Given the description of an element on the screen output the (x, y) to click on. 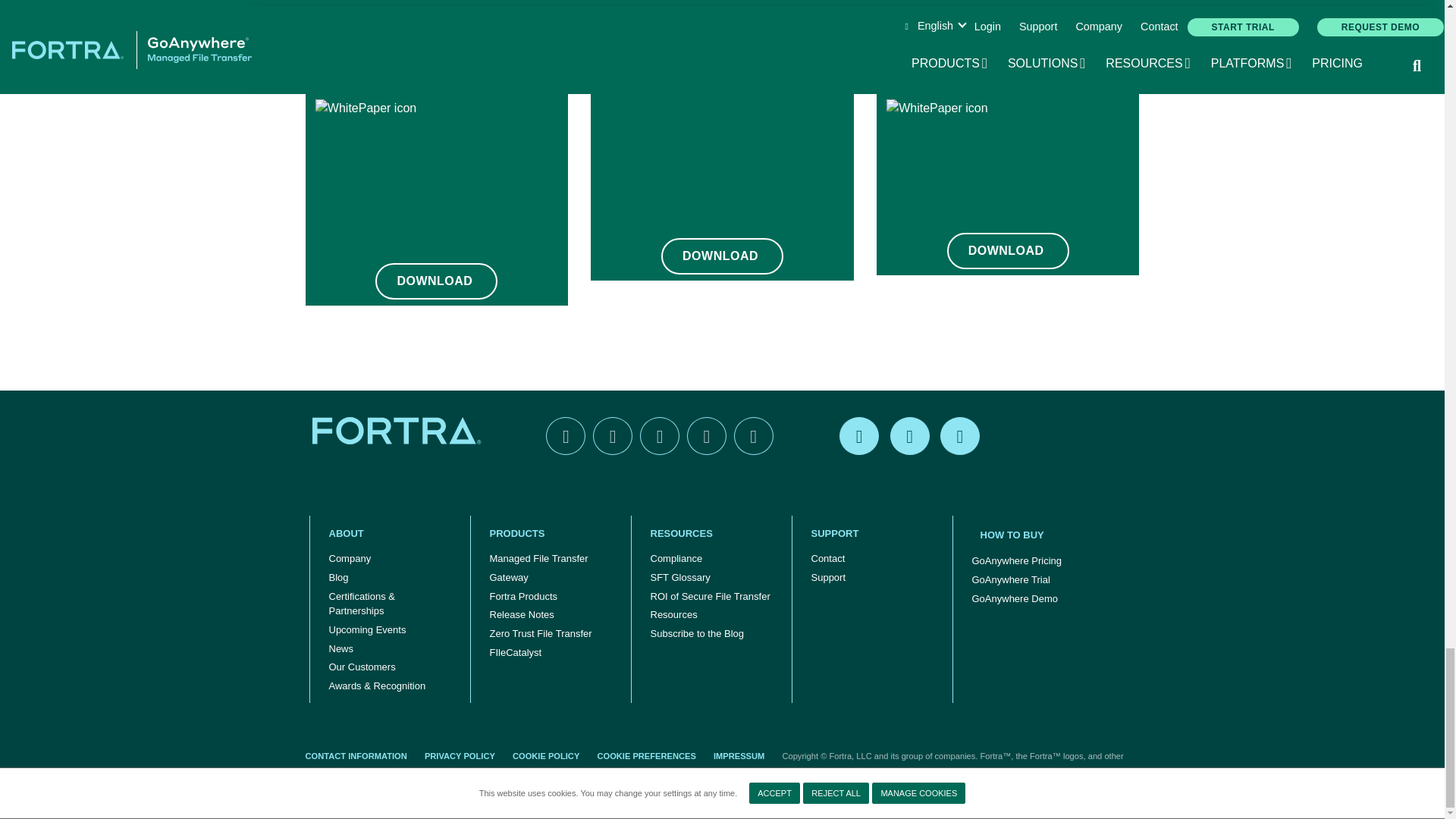
Certifications and partnerships (389, 603)
Home (398, 430)
About GoAnywhere by HelpSystems (389, 534)
